Given the description of an element on the screen output the (x, y) to click on. 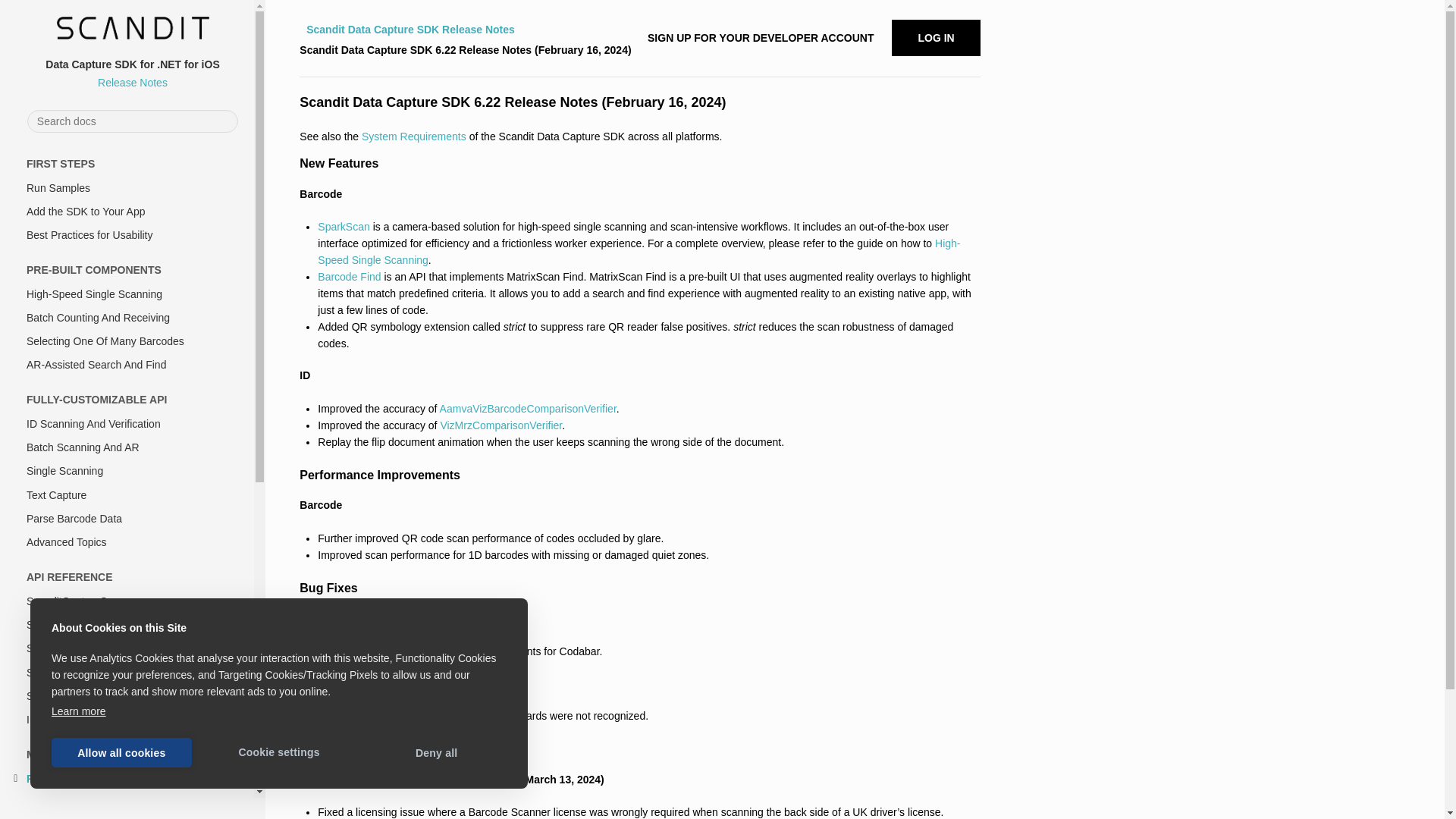
VizMrzComparisonVerifier class (500, 425)
Learn more (78, 711)
Cookie settings (279, 751)
Allow all cookies (121, 752)
Deny all (436, 752)
AamvaVizBarcodeComparisonVerifier class (527, 408)
